Given the description of an element on the screen output the (x, y) to click on. 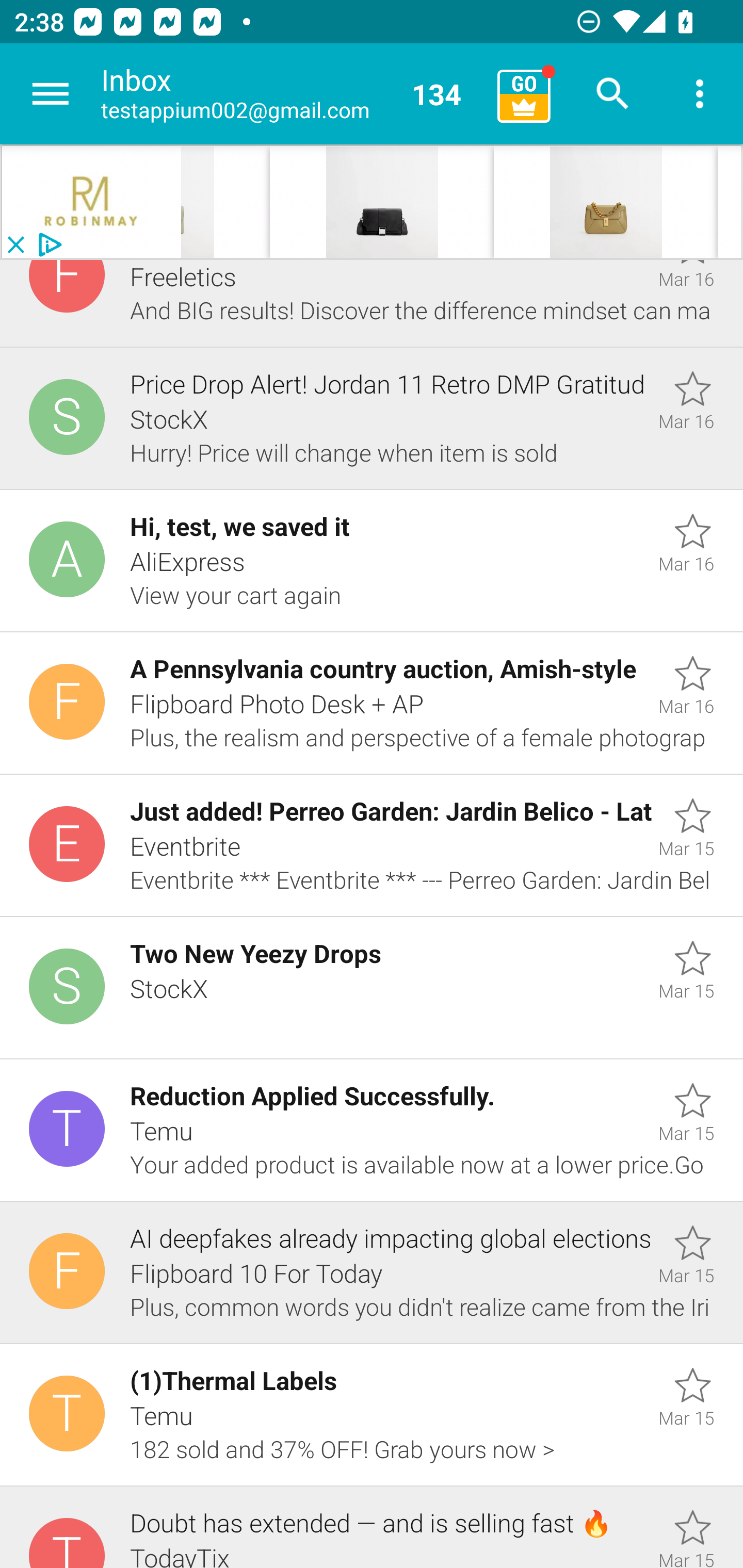
Navigate up (50, 93)
Inbox testappium002@gmail.com 134 (291, 93)
Search (612, 93)
More options (699, 93)
   (91, 202)
   (404, 202)
   (629, 202)
close_button (14, 245)
privacy_small (47, 245)
Unread, Two New Yeezy Drops, StockX, Mar 15 (371, 988)
